Given the description of an element on the screen output the (x, y) to click on. 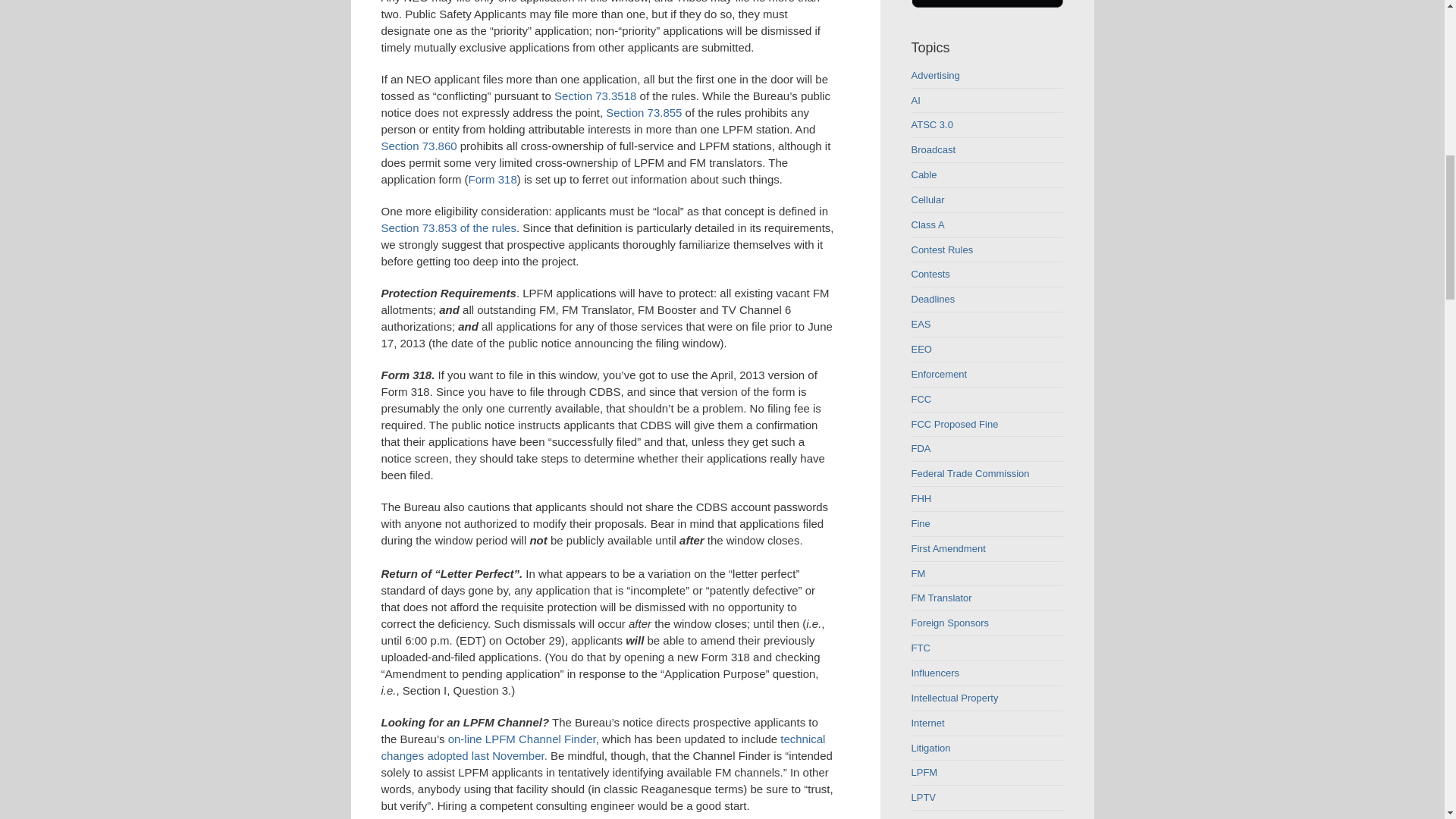
Form 318 (492, 178)
Section 73.3518 (595, 95)
technical changes adopted last November. (602, 747)
Section 73.853 of the rules (447, 227)
Section 73.855 (643, 112)
Section 73.860 (418, 145)
on-line LPFM Channel Finder (521, 738)
